Given the description of an element on the screen output the (x, y) to click on. 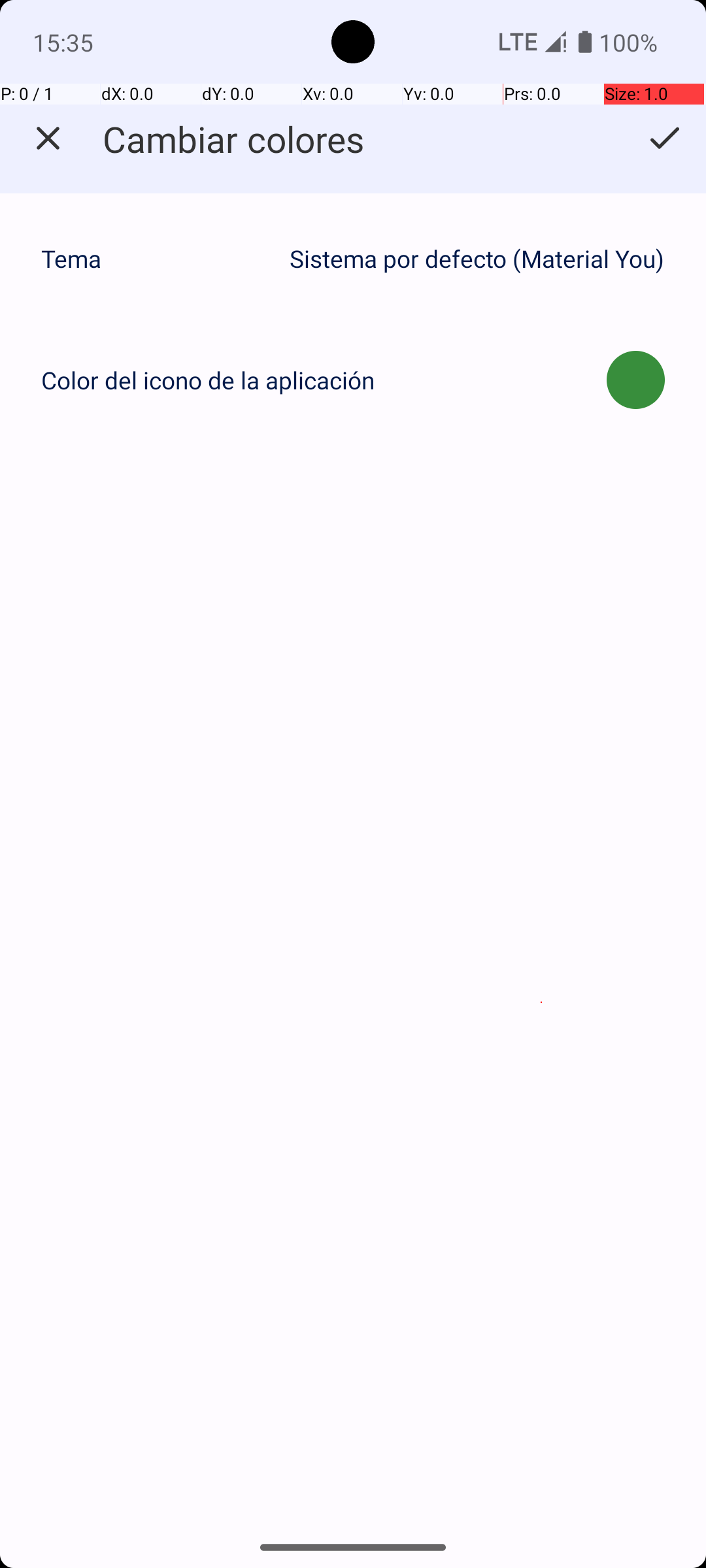
Cerrar Element type: android.widget.ImageButton (48, 138)
Tema Element type: android.widget.TextView (158, 258)
Sistema por defecto (Material You) Element type: android.widget.TextView (476, 258)
Color del icono de la aplicación Element type: android.widget.TextView (207, 379)
